Given the description of an element on the screen output the (x, y) to click on. 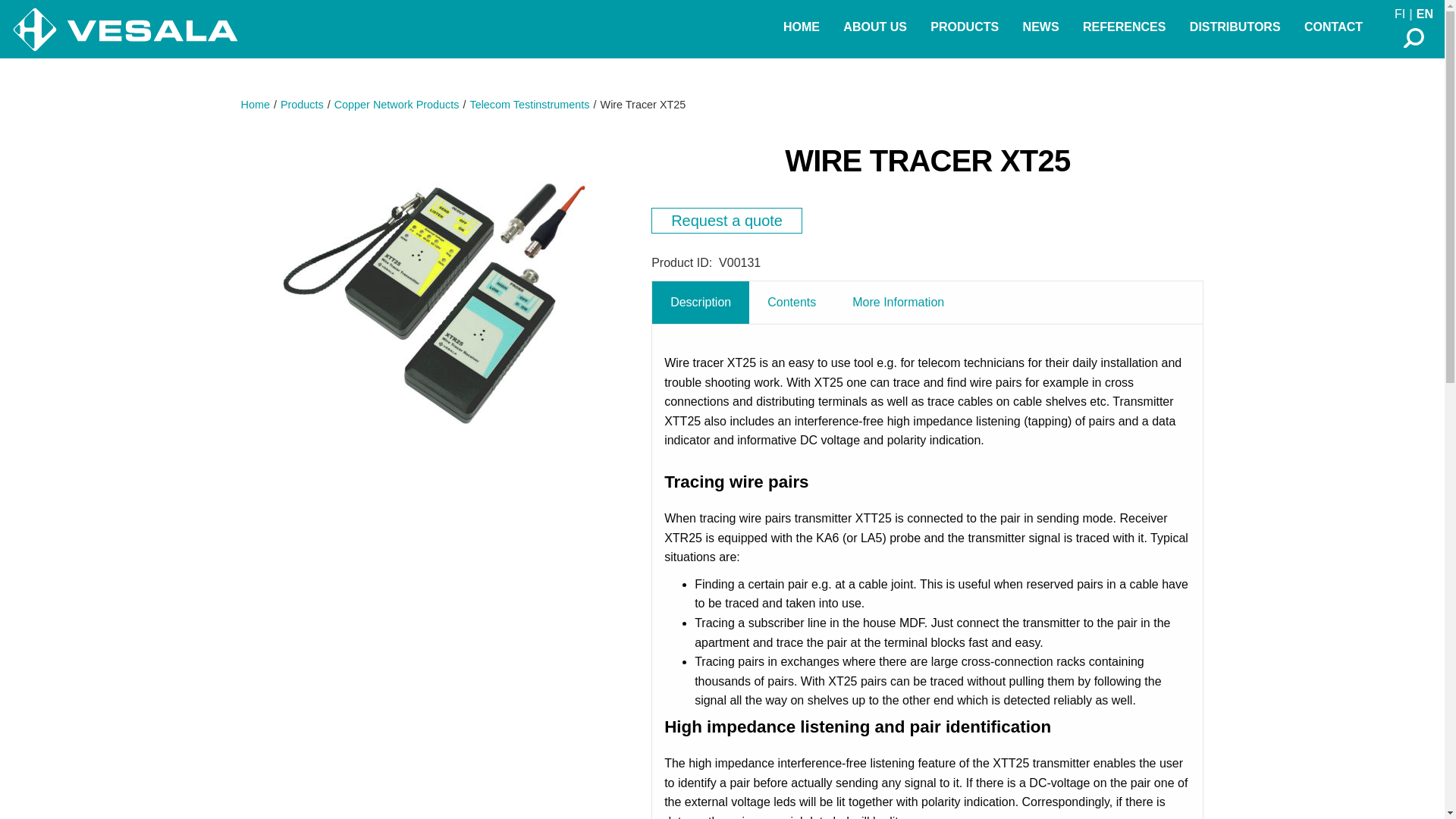
Telecom Testinstruments (528, 104)
CONTACT (1333, 26)
Description (700, 302)
Home (255, 104)
Contents (791, 302)
Request a quote (726, 220)
HOME (801, 26)
ABOUT US (874, 26)
PRODUCTS (964, 26)
REFERENCES (1124, 26)
Copper Network Products (397, 104)
etusivulle (124, 28)
NEWS (1040, 26)
DISTRIBUTORS (1235, 26)
Products (302, 104)
